Given the description of an element on the screen output the (x, y) to click on. 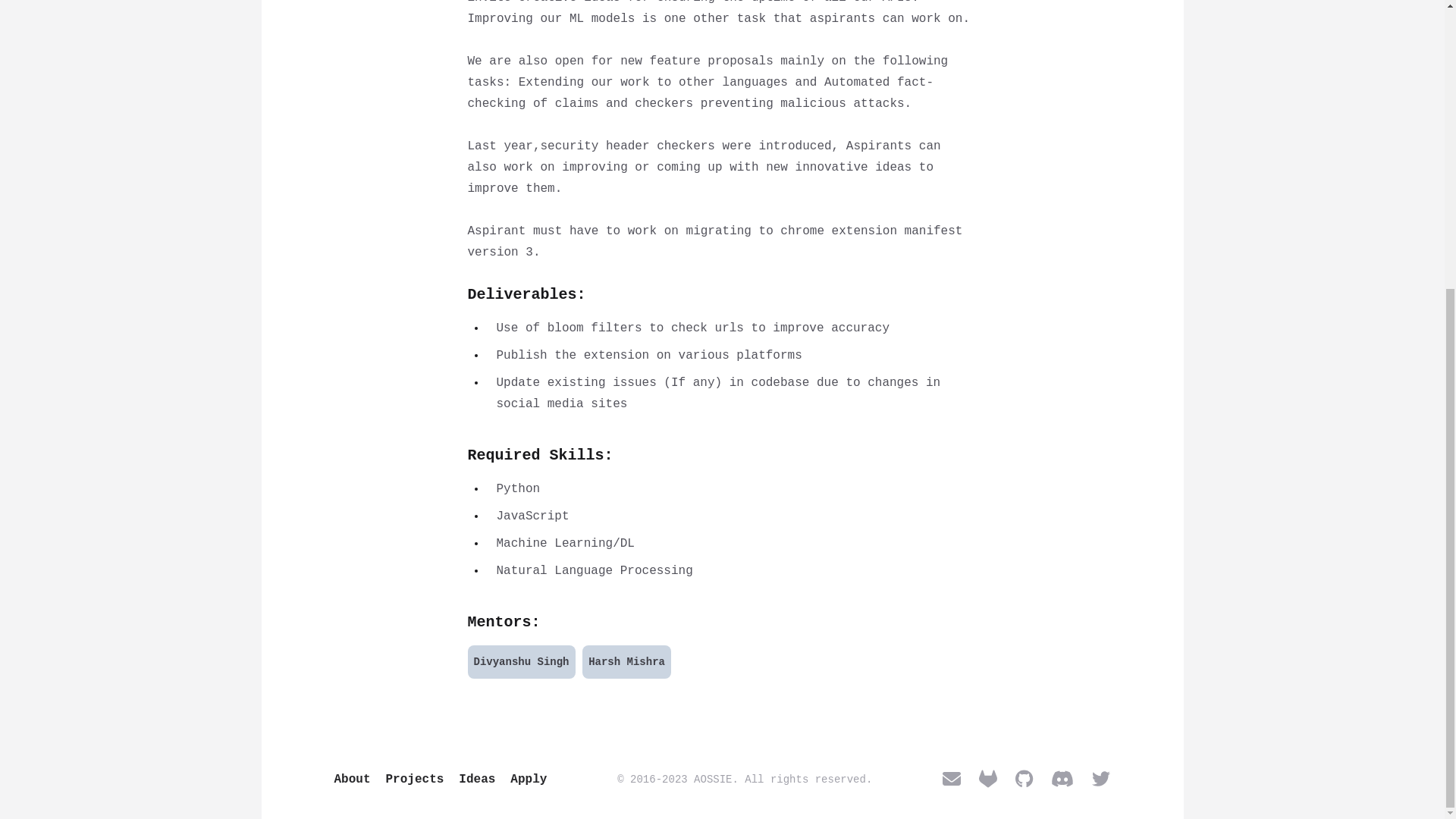
Apply (529, 778)
About (351, 778)
Projects (414, 778)
Ideas (476, 778)
